Given the description of an element on the screen output the (x, y) to click on. 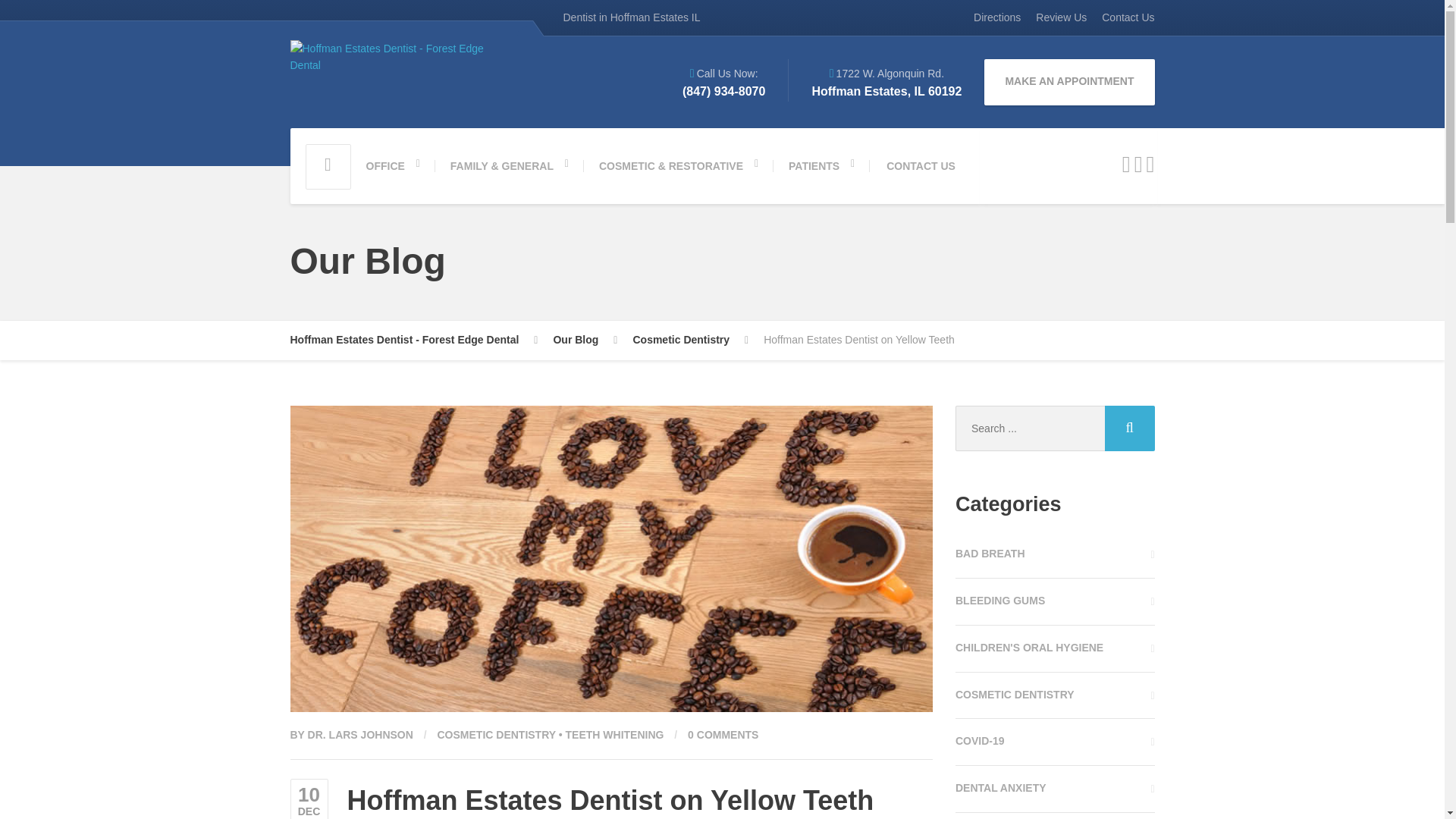
PATIENTS (821, 165)
Go to Our Blog. (585, 340)
Our Blog (585, 340)
0 COMMENTS (722, 734)
Go to Hoffman Estates Dentist - Forest Edge Dental. (413, 340)
Cosmetic Dentistry (689, 340)
Contact Us (1124, 18)
Go to the Cosmetic Dentistry category archives. (689, 340)
OFFICE (391, 165)
Hoffman Estates Dentist - Forest Edge Dental (413, 340)
